Given the description of an element on the screen output the (x, y) to click on. 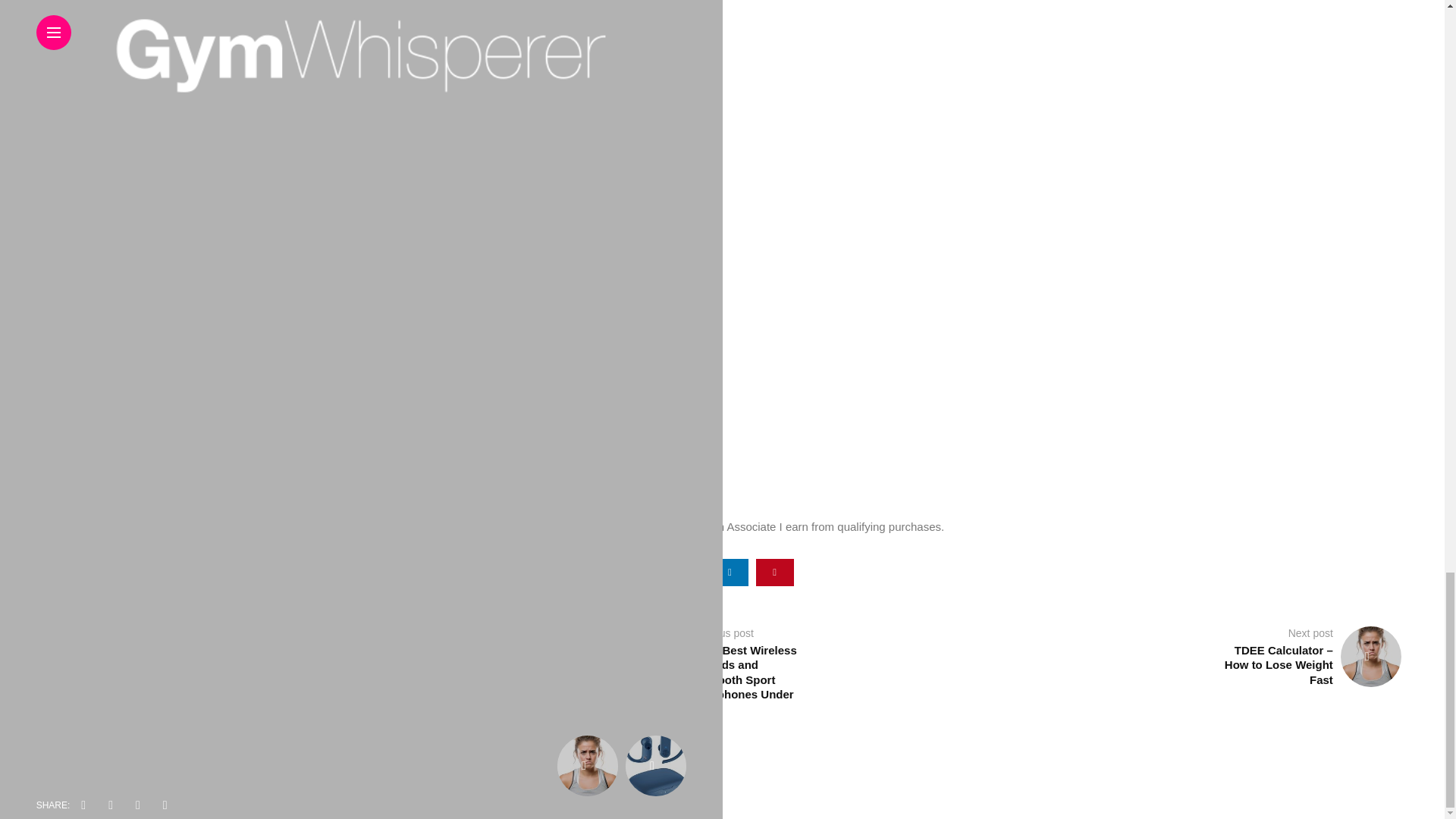
facebook (640, 572)
